Given the description of an element on the screen output the (x, y) to click on. 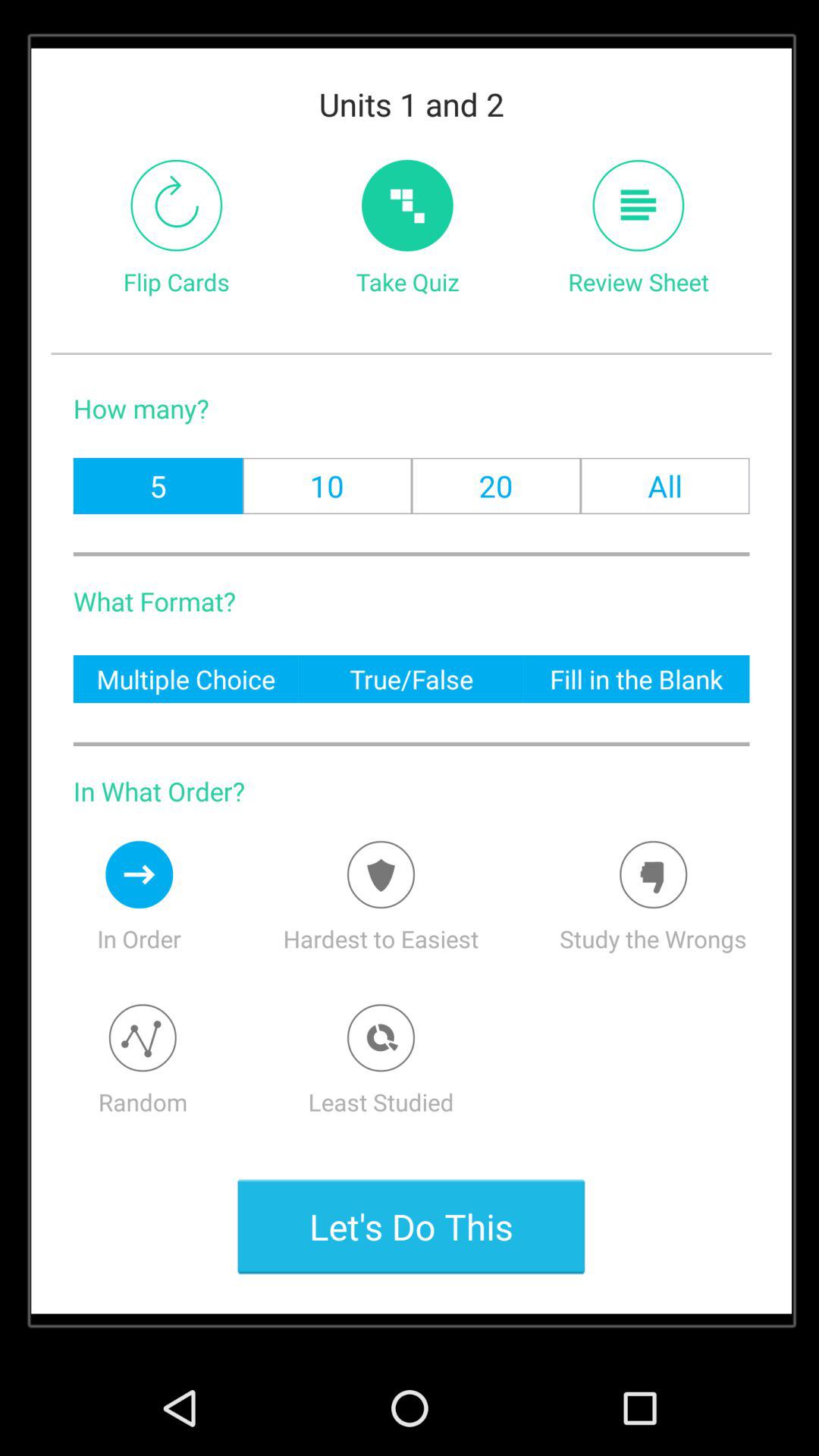
jump to the true/false item (410, 678)
